Given the description of an element on the screen output the (x, y) to click on. 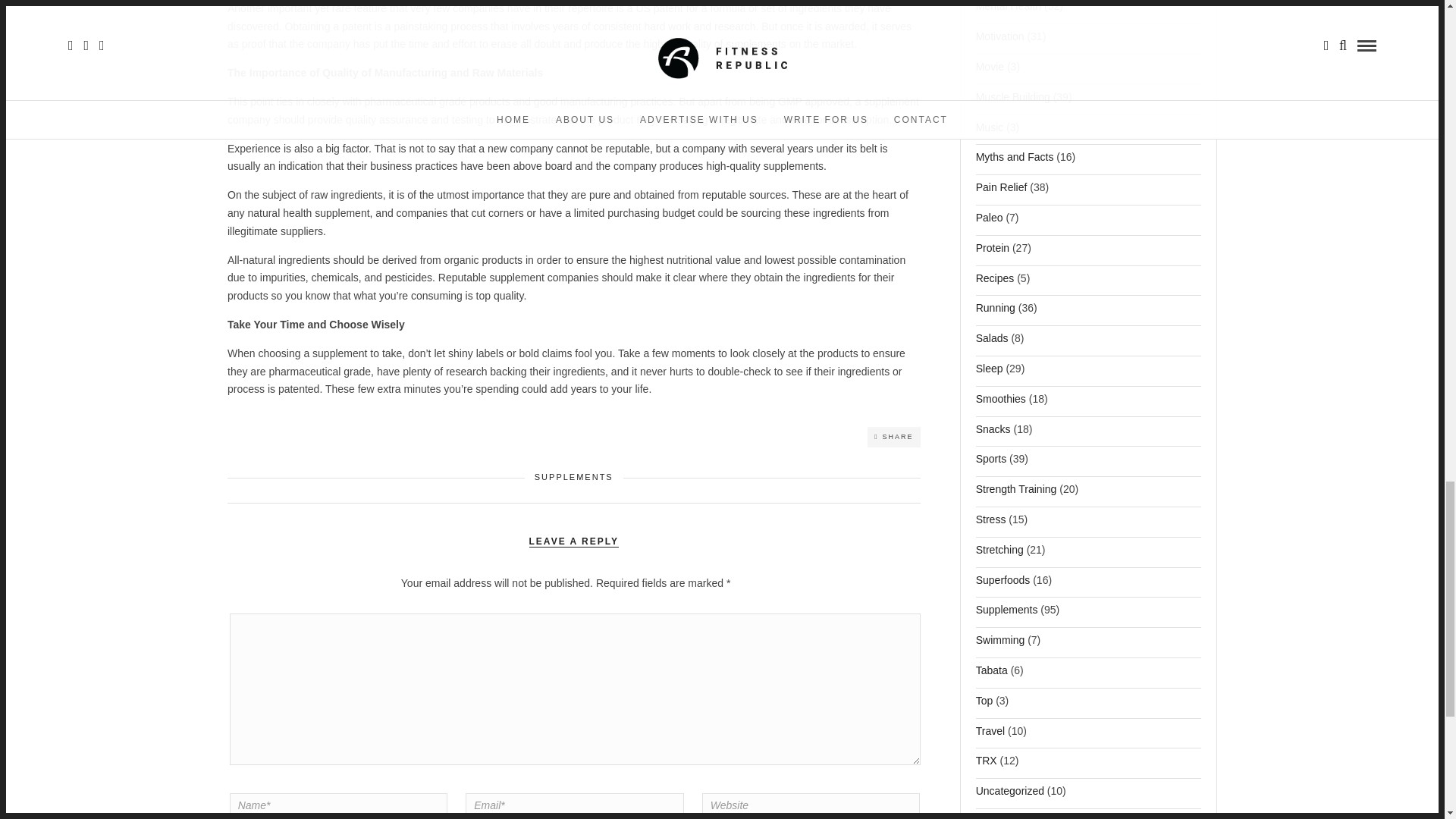
SUPPLEMENTS (573, 476)
